Given the description of an element on the screen output the (x, y) to click on. 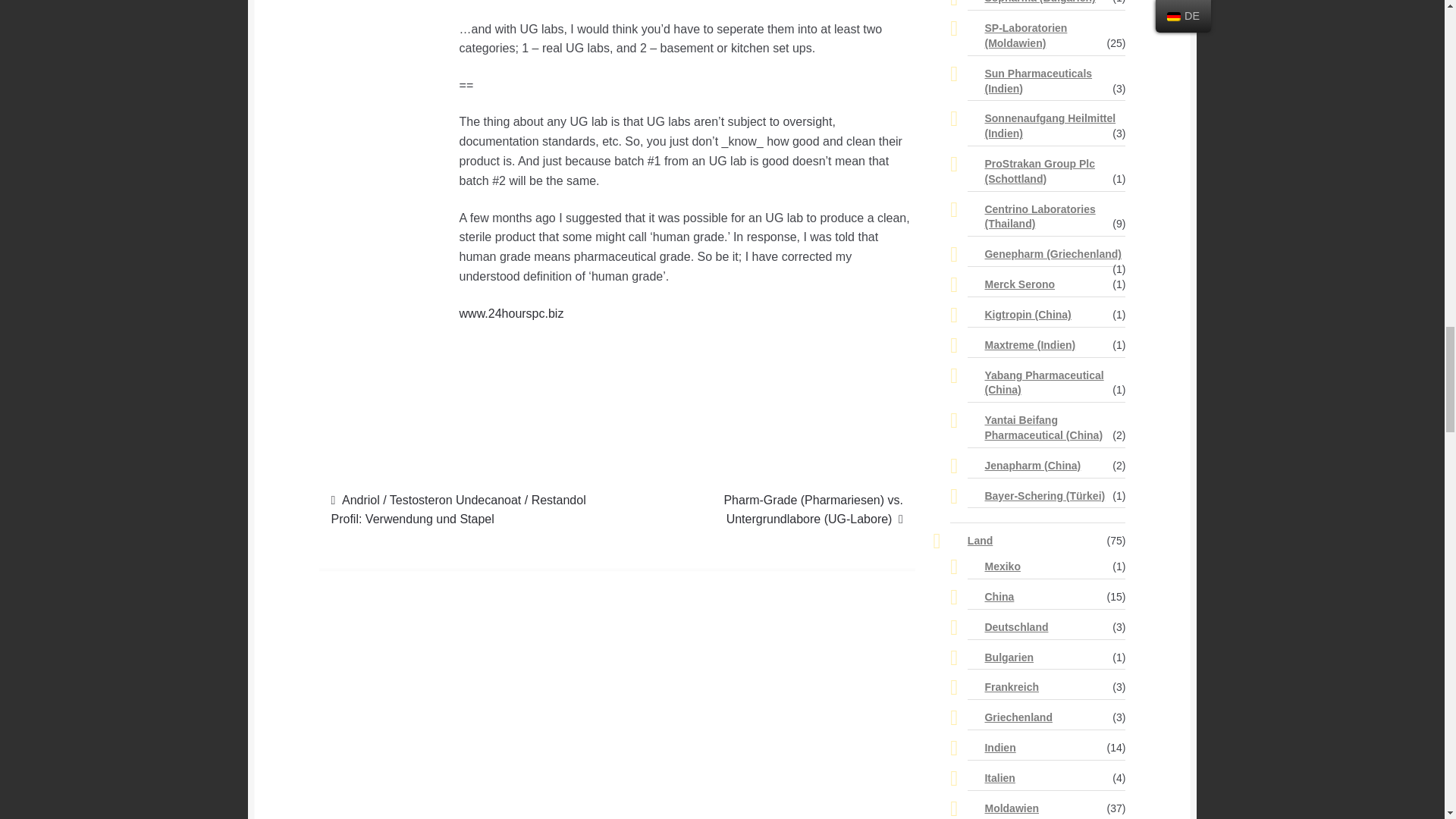
Buy human grade anabolic steroids online (512, 313)
www.24hourspc.biz (512, 313)
